Given the description of an element on the screen output the (x, y) to click on. 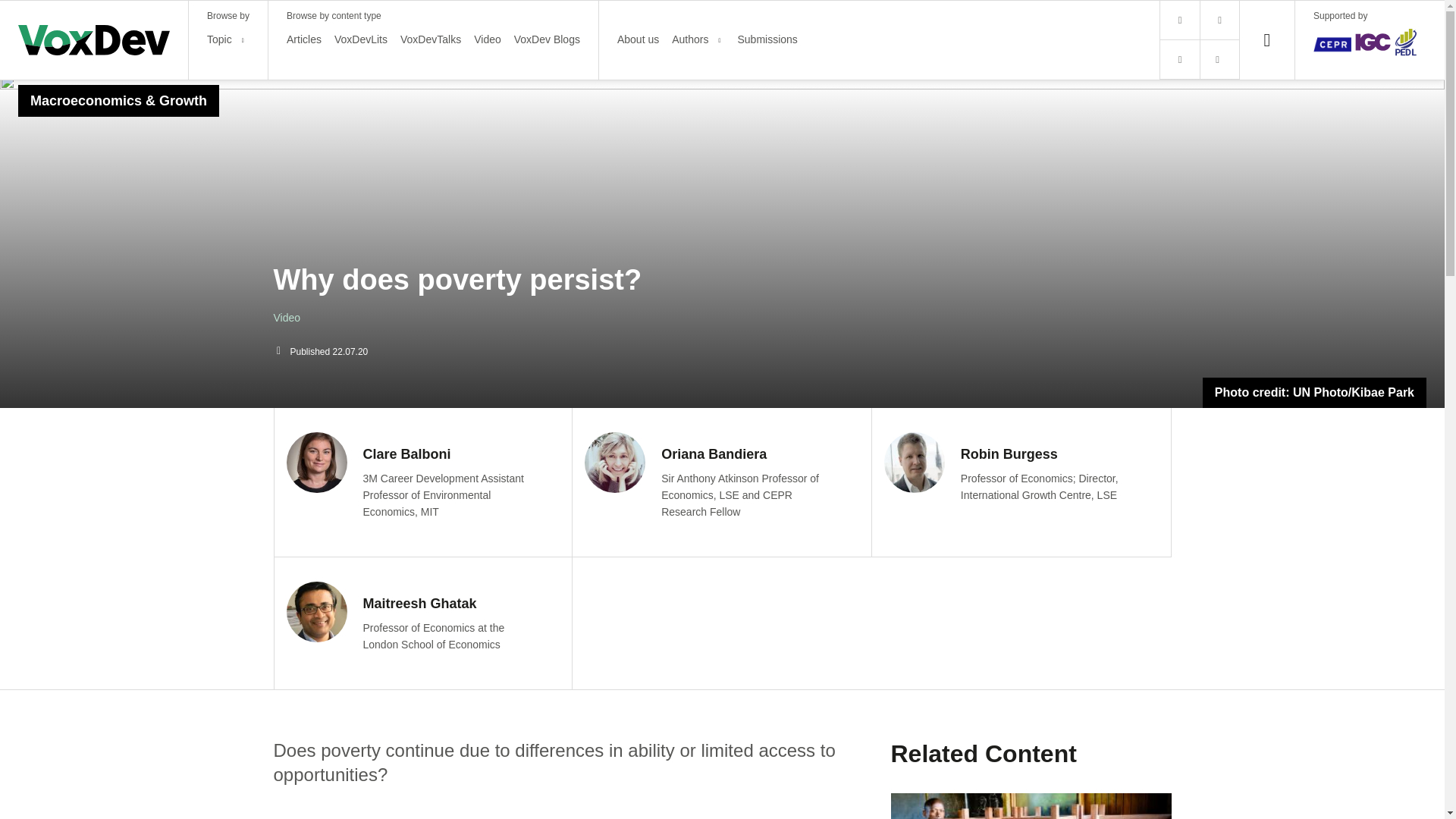
VoxDev Blogs (546, 39)
VoxDevTalks (430, 39)
About us (638, 39)
VoxDevLits (360, 39)
Why Does Poverty Persist (567, 812)
Authors (689, 39)
Video (487, 39)
Submissions (766, 39)
Articles (303, 39)
